Given the description of an element on the screen output the (x, y) to click on. 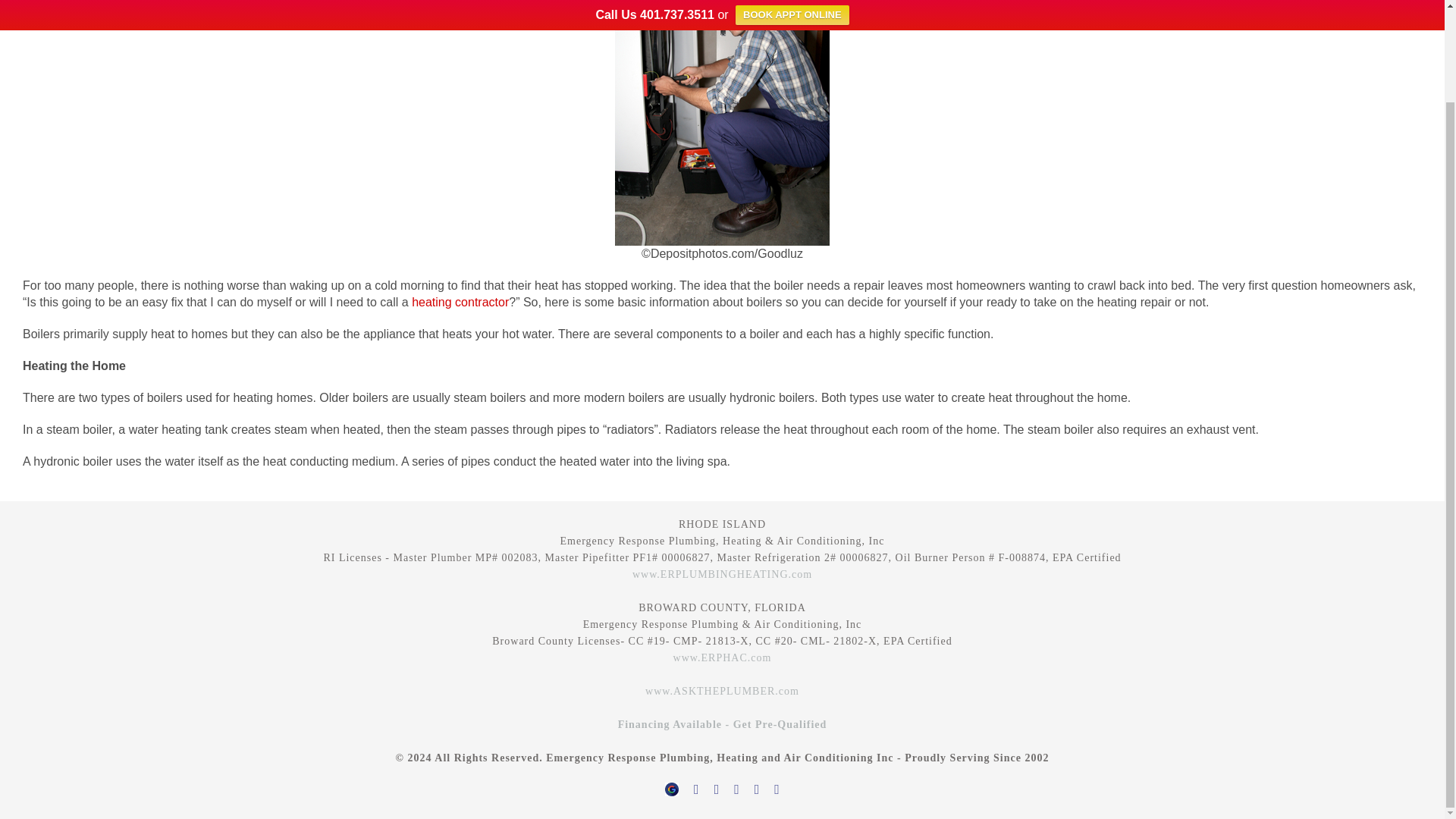
heating contractor (460, 301)
www.ASKTHEPLUMBER.com (722, 690)
heating contractor (460, 301)
Google (671, 786)
www.ERPHAC.com (721, 657)
Financing Available - Get Pre-Qualified (722, 724)
Google (671, 786)
www.ERPLUMBINGHEATING.com (721, 573)
